Given the description of an element on the screen output the (x, y) to click on. 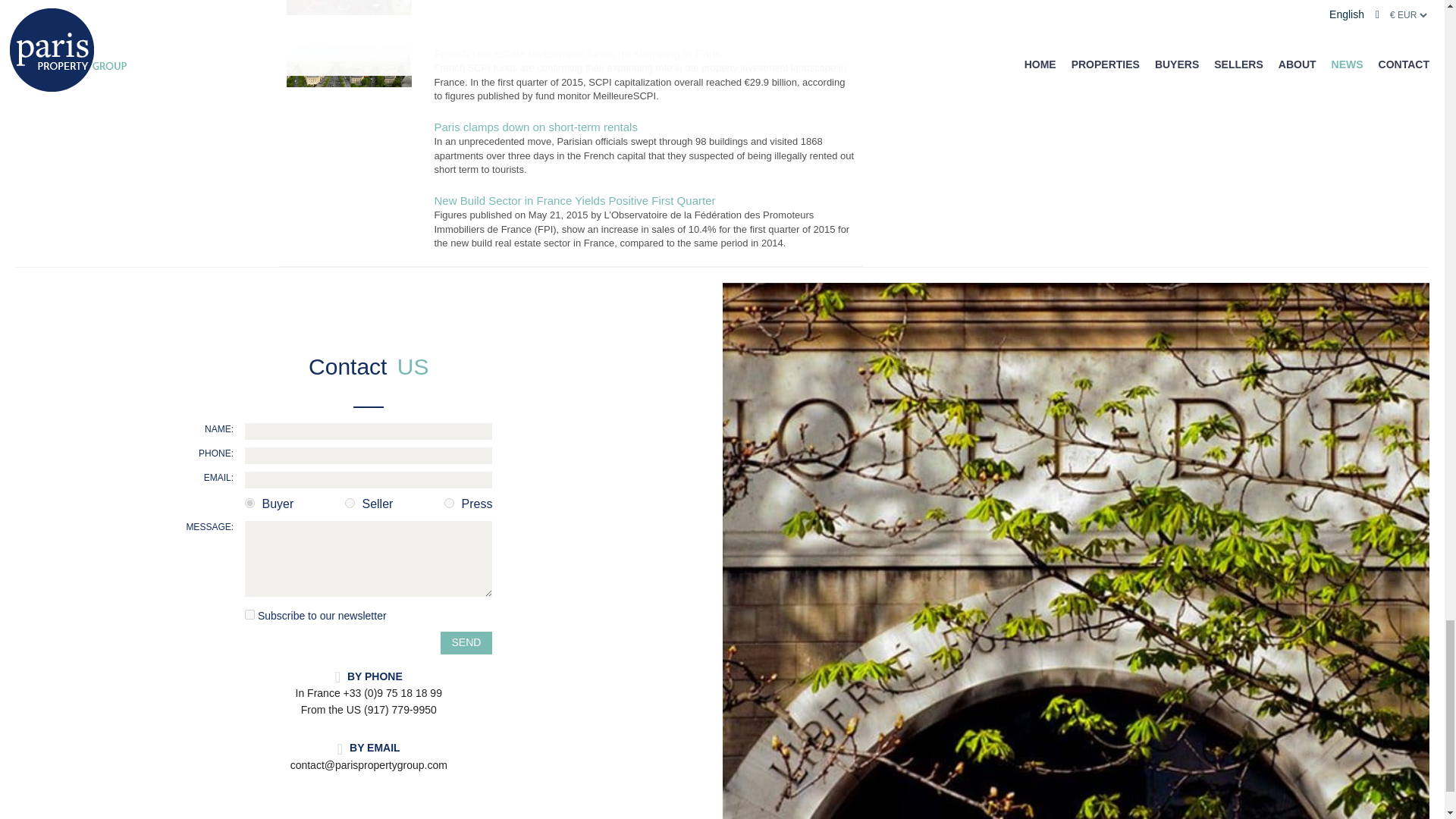
YES (249, 614)
Press (449, 502)
Seller (350, 502)
Buyer (249, 502)
